Given the description of an element on the screen output the (x, y) to click on. 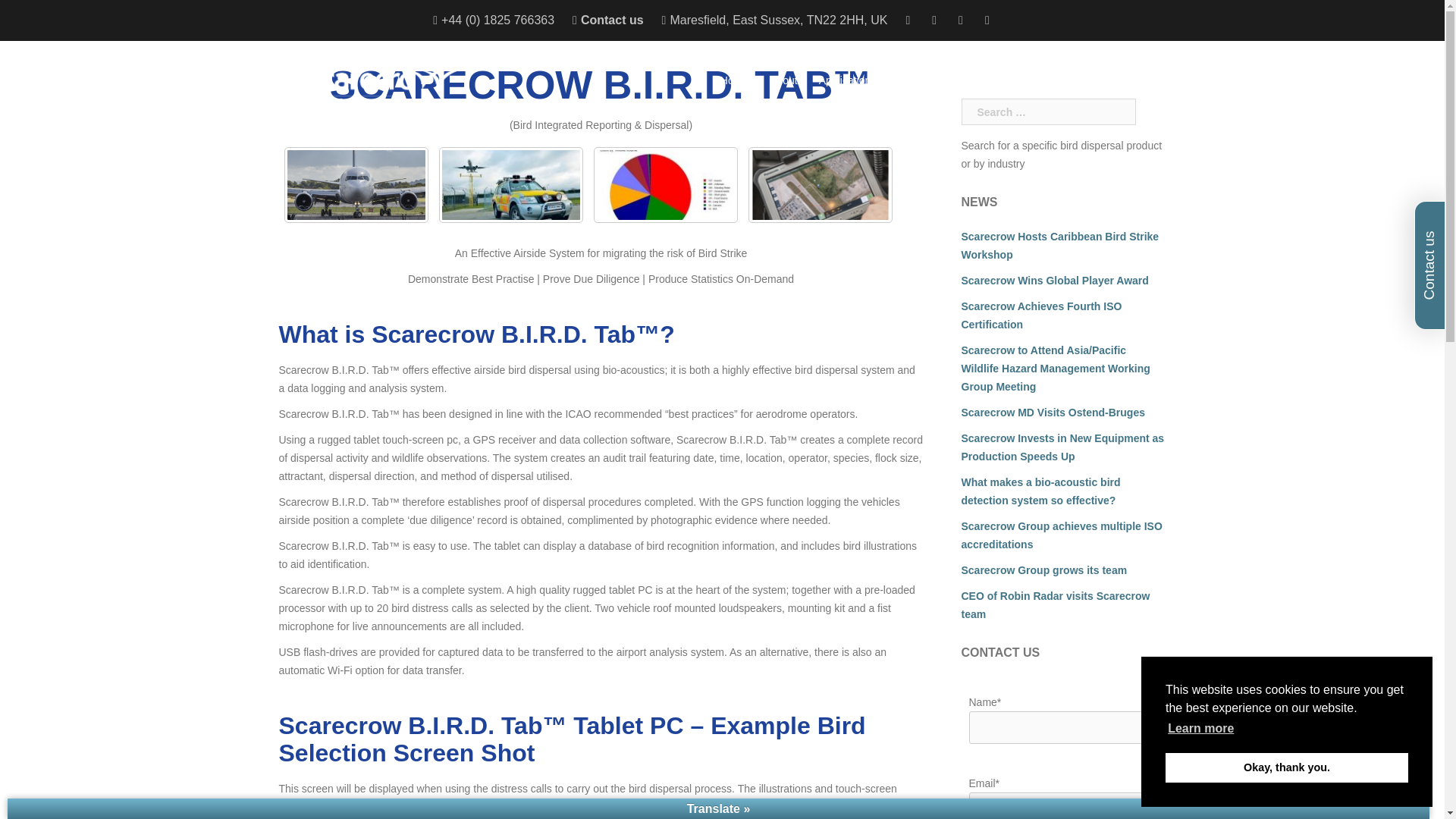
Home (734, 80)
Applications (847, 80)
Scarecrow Invests in New Equipment as Production Speeds Up (1062, 447)
Scarecrow (384, 86)
About (783, 80)
Scarecrow MD Visits Ostend-Bruges (1052, 412)
Search (47, 18)
vehicle image (510, 184)
News (966, 80)
Contact us (611, 19)
Scarecrow Hosts Caribbean Bird Strike Workshop (1059, 245)
Repairs (1124, 80)
Tablet image (819, 184)
Wildlife Pie chart (664, 184)
Scarecrow Wins Global Player Award (1054, 280)
